Given the description of an element on the screen output the (x, y) to click on. 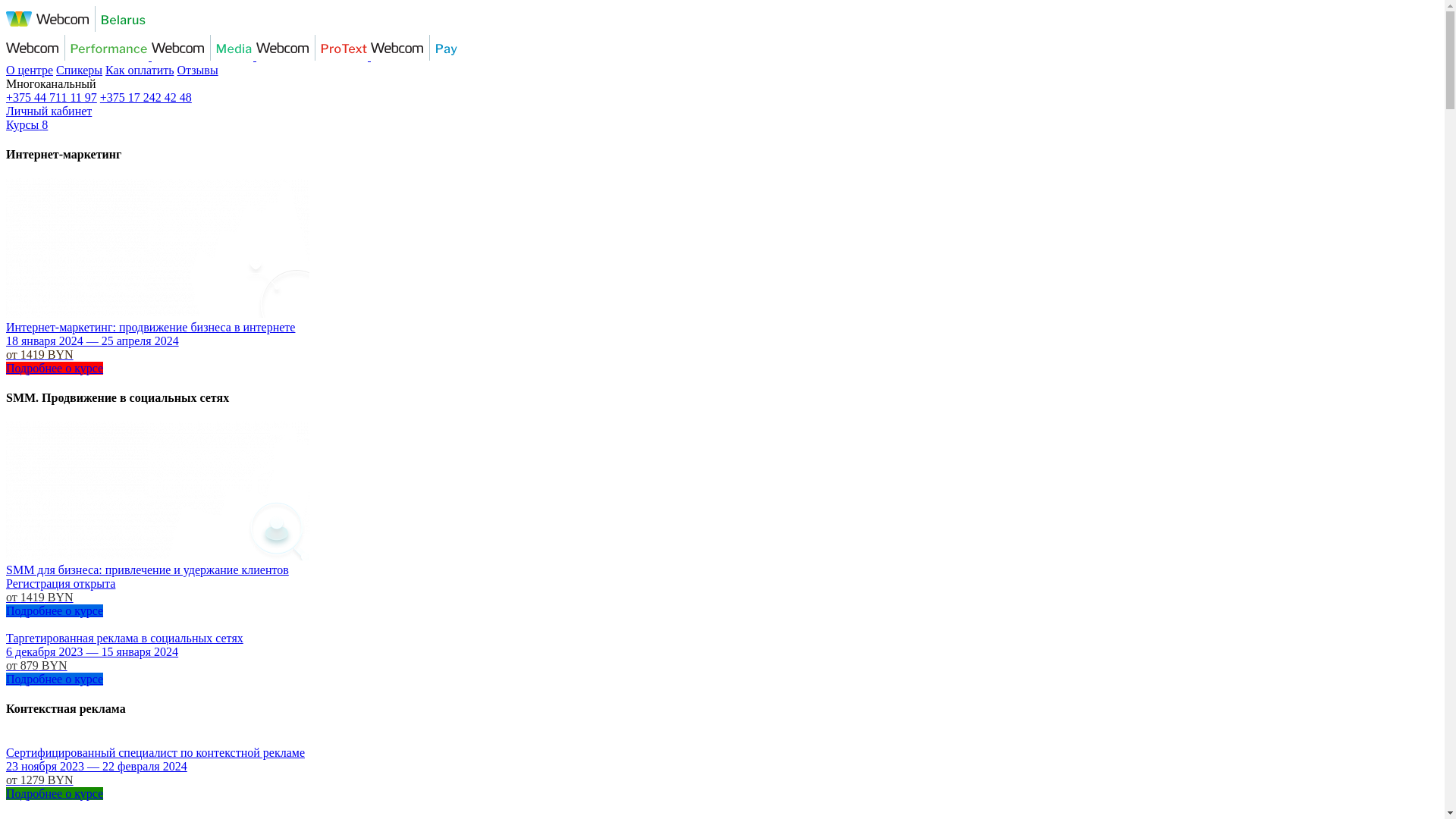
+375 17 242 42 48 Element type: text (145, 97)
+375 44 711 11 97 Element type: text (51, 97)
